Given the description of an element on the screen output the (x, y) to click on. 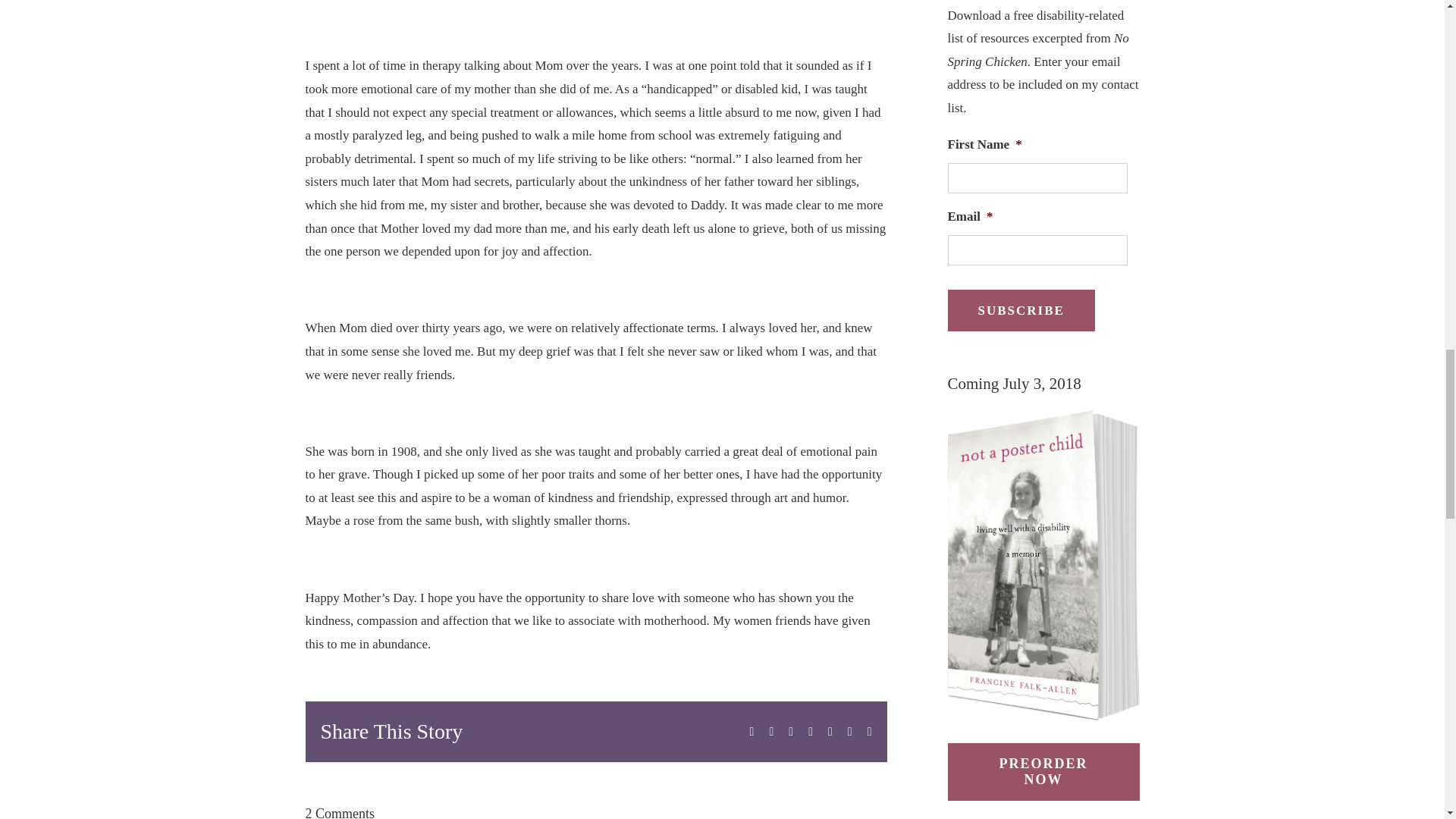
Facebook (751, 731)
Tumblr (830, 731)
Reddit (791, 731)
Preorder Now (1043, 771)
Pinterest (849, 731)
Twitter (770, 731)
Email (869, 731)
LinkedIn (810, 731)
Subscribe (1020, 310)
